Given the description of an element on the screen output the (x, y) to click on. 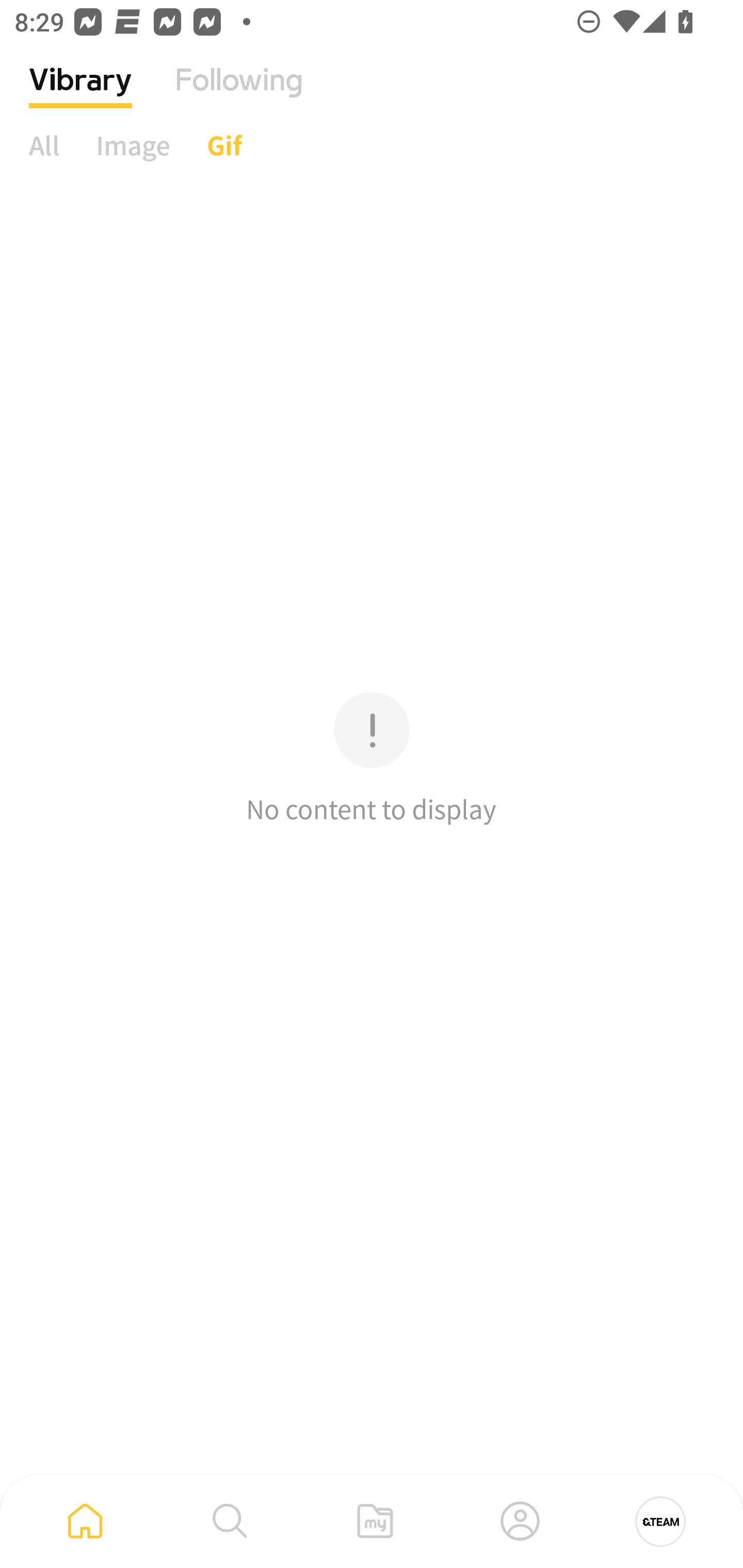
Vibrary (80, 95)
Following (239, 95)
All (44, 145)
Image (132, 145)
Gif (224, 145)
